Given the description of an element on the screen output the (x, y) to click on. 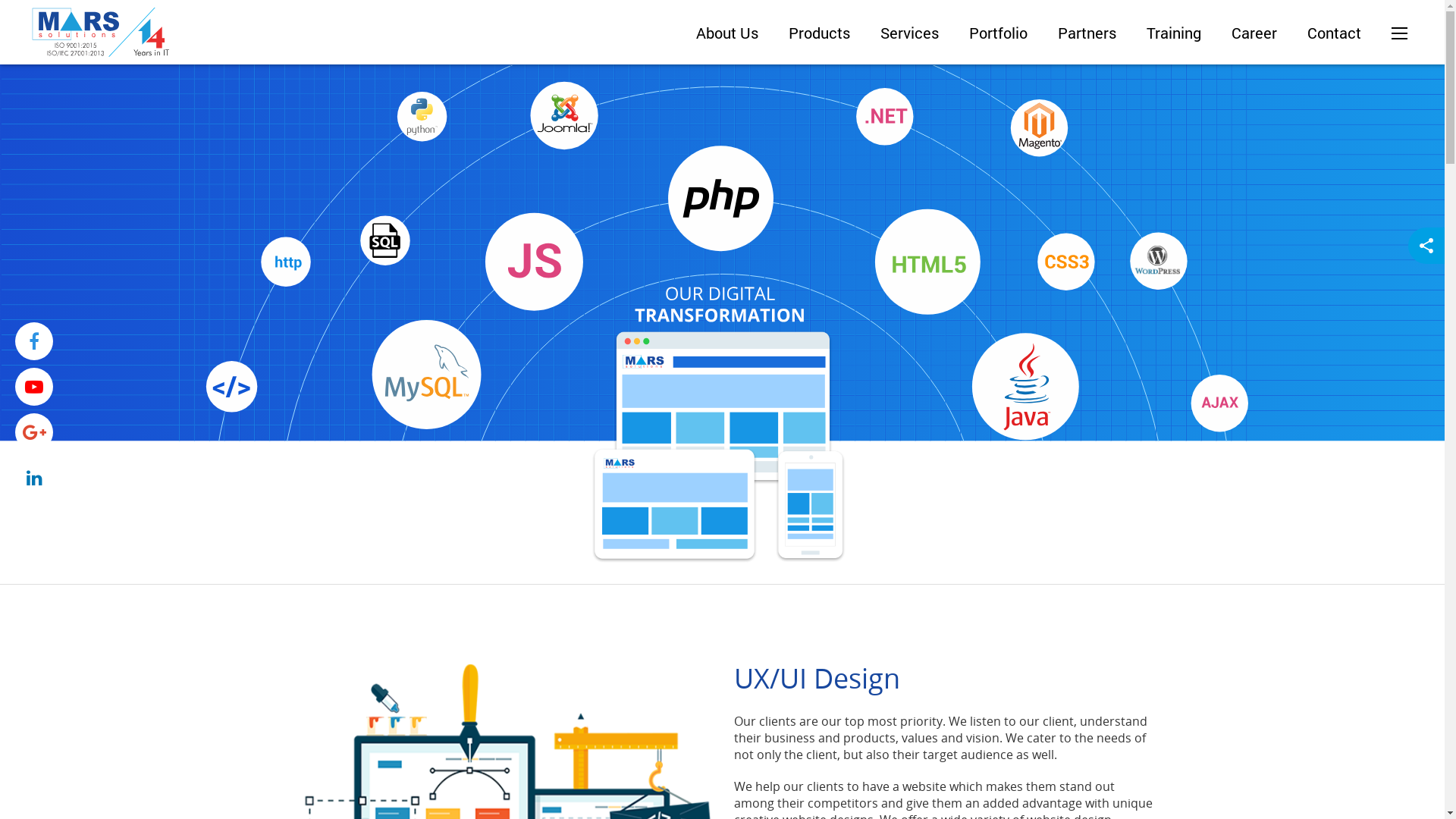
Career Element type: text (1254, 32)
Contact Element type: text (1334, 32)
Partners Element type: text (1086, 32)
Services Element type: text (909, 32)
About Us Element type: text (727, 32)
Products Element type: text (819, 32)
Training Element type: text (1173, 32)
Portfolio Element type: text (998, 32)
